Given the description of an element on the screen output the (x, y) to click on. 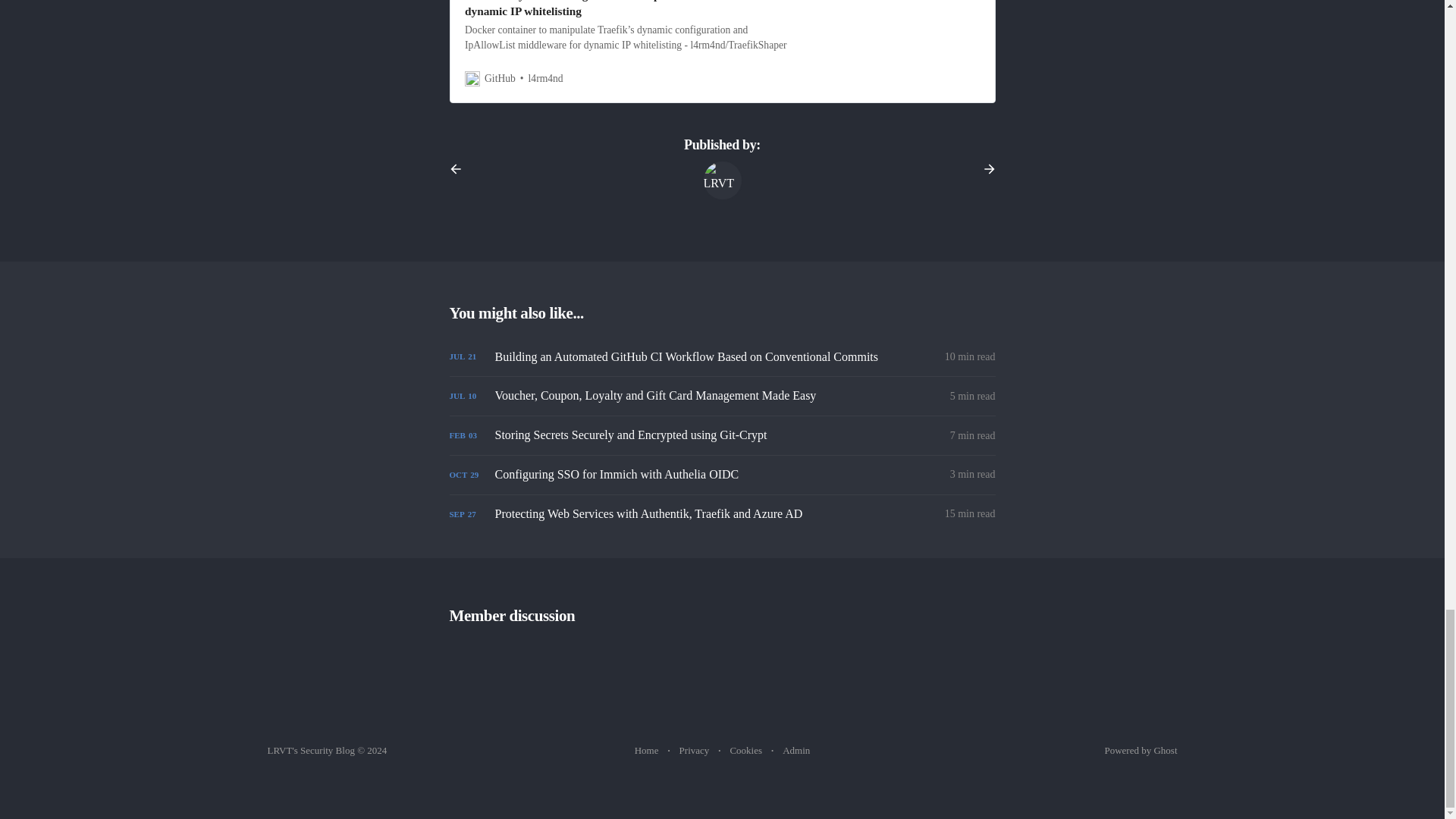
Home (646, 750)
Powered by Ghost (1139, 749)
Cookies (745, 750)
Privacy (694, 750)
Admin (796, 750)
